Given the description of an element on the screen output the (x, y) to click on. 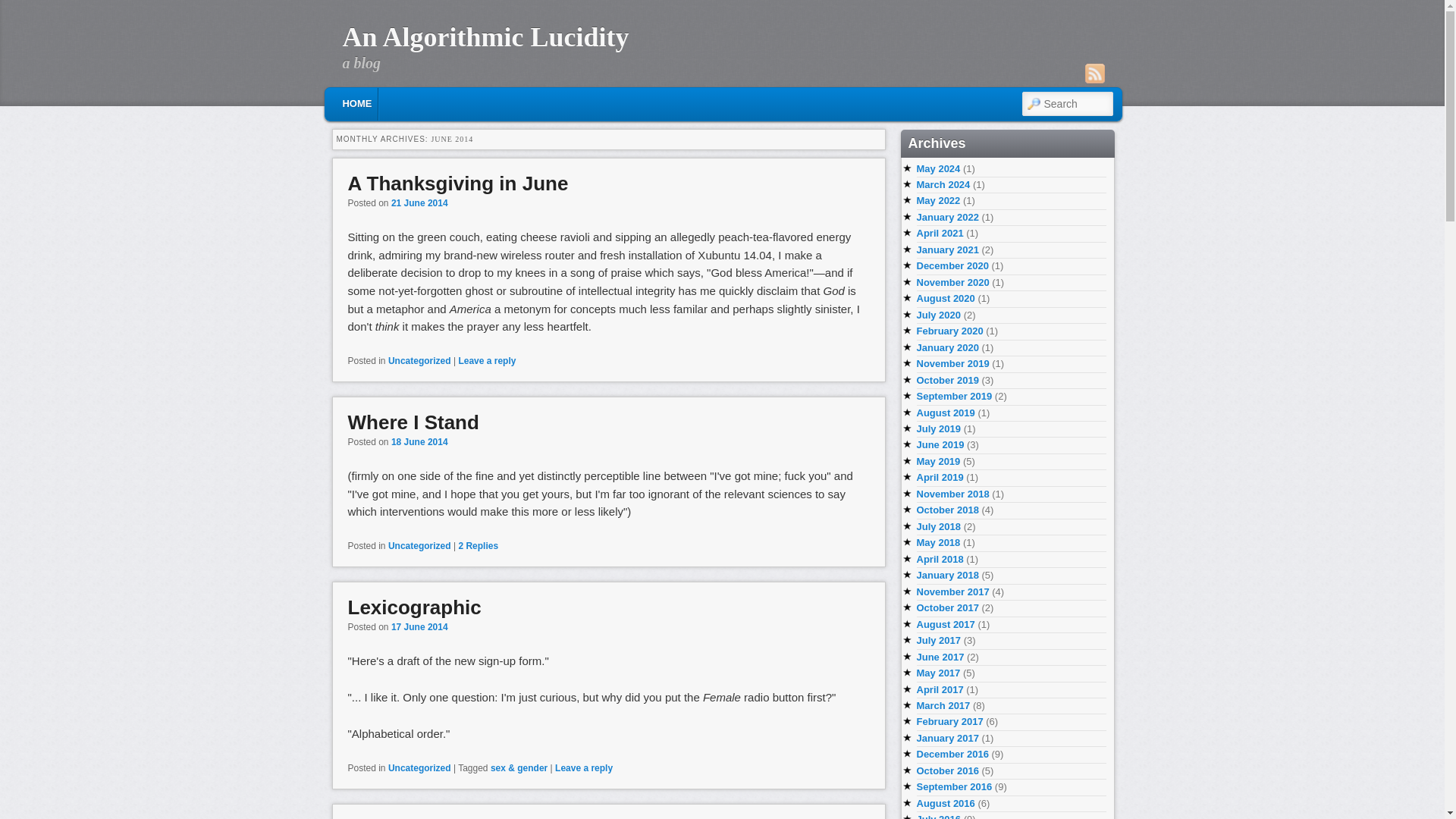
17 June 2014 (419, 626)
A Thanksgiving in June (457, 182)
An Algorithmic Lucidity (485, 37)
SKIP TO SECONDARY CONTENT (432, 102)
18 June 2014 (419, 441)
RSS (1093, 73)
SKIP TO PRIMARY CONTENT (421, 102)
2 Replies (477, 545)
May 2024 (937, 167)
